Given the description of an element on the screen output the (x, y) to click on. 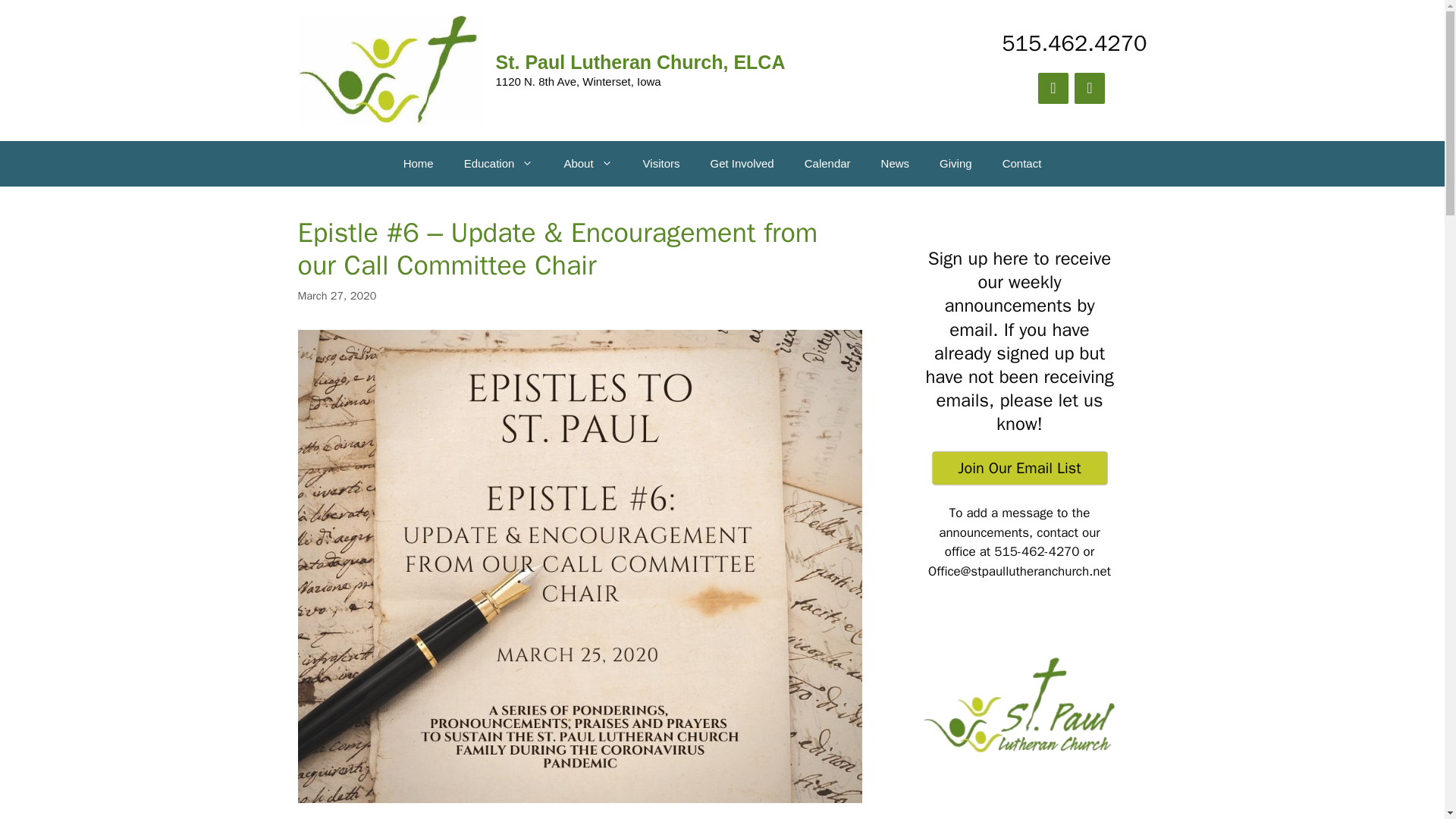
Visitors (661, 163)
Get Involved (741, 163)
Home (418, 163)
Giving (955, 163)
Calendar (827, 163)
About (587, 163)
Join Our Email List (1019, 468)
Automatic Giving (955, 163)
News (895, 163)
Contact (1022, 163)
YouTube (1089, 88)
Facebook (1053, 88)
Education (498, 163)
St. Paul Lutheran Church, ELCA (641, 61)
